Given the description of an element on the screen output the (x, y) to click on. 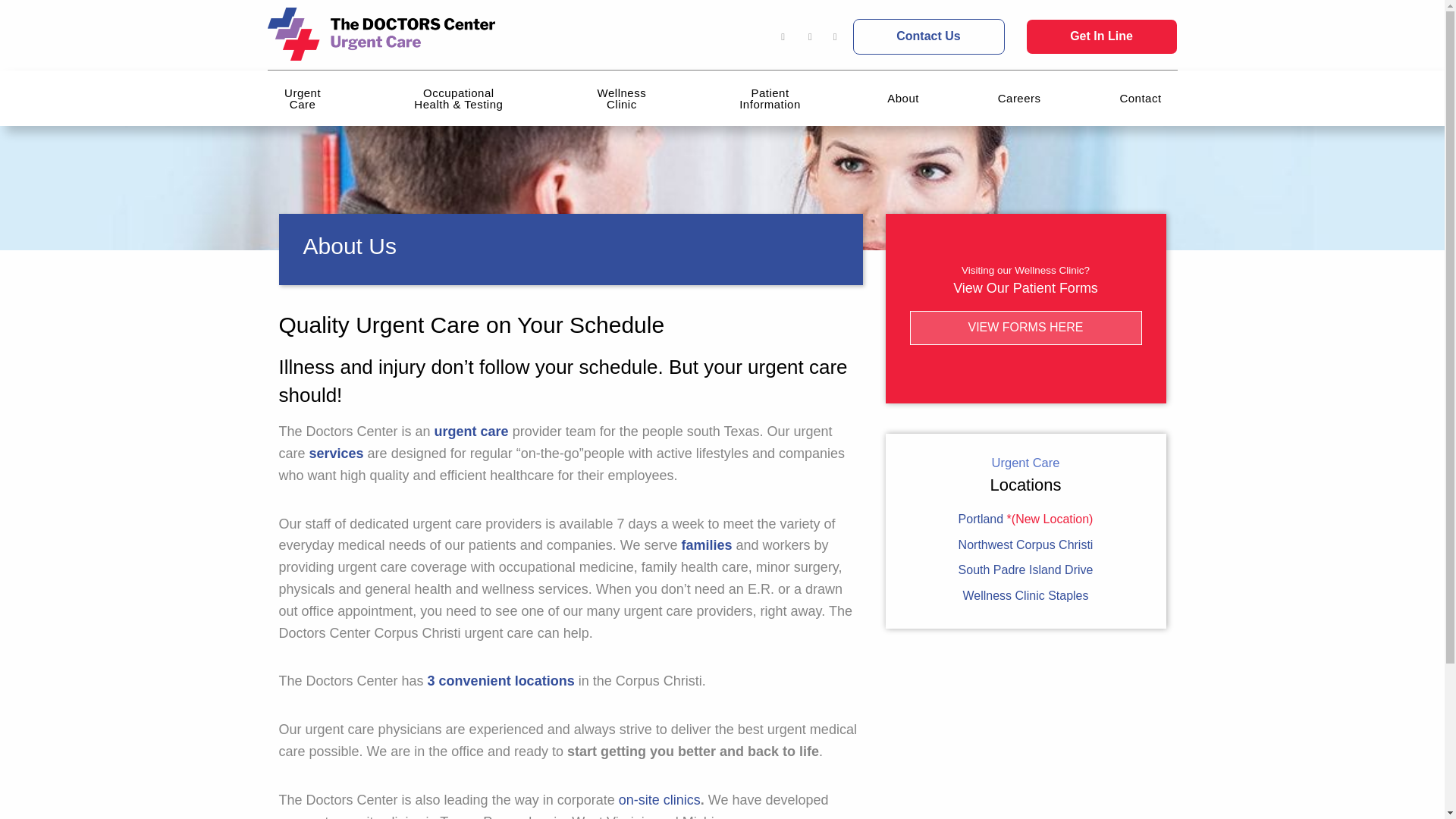
Get In Line (1100, 36)
Contact Us (927, 36)
Urgent Care (305, 97)
